Given the description of an element on the screen output the (x, y) to click on. 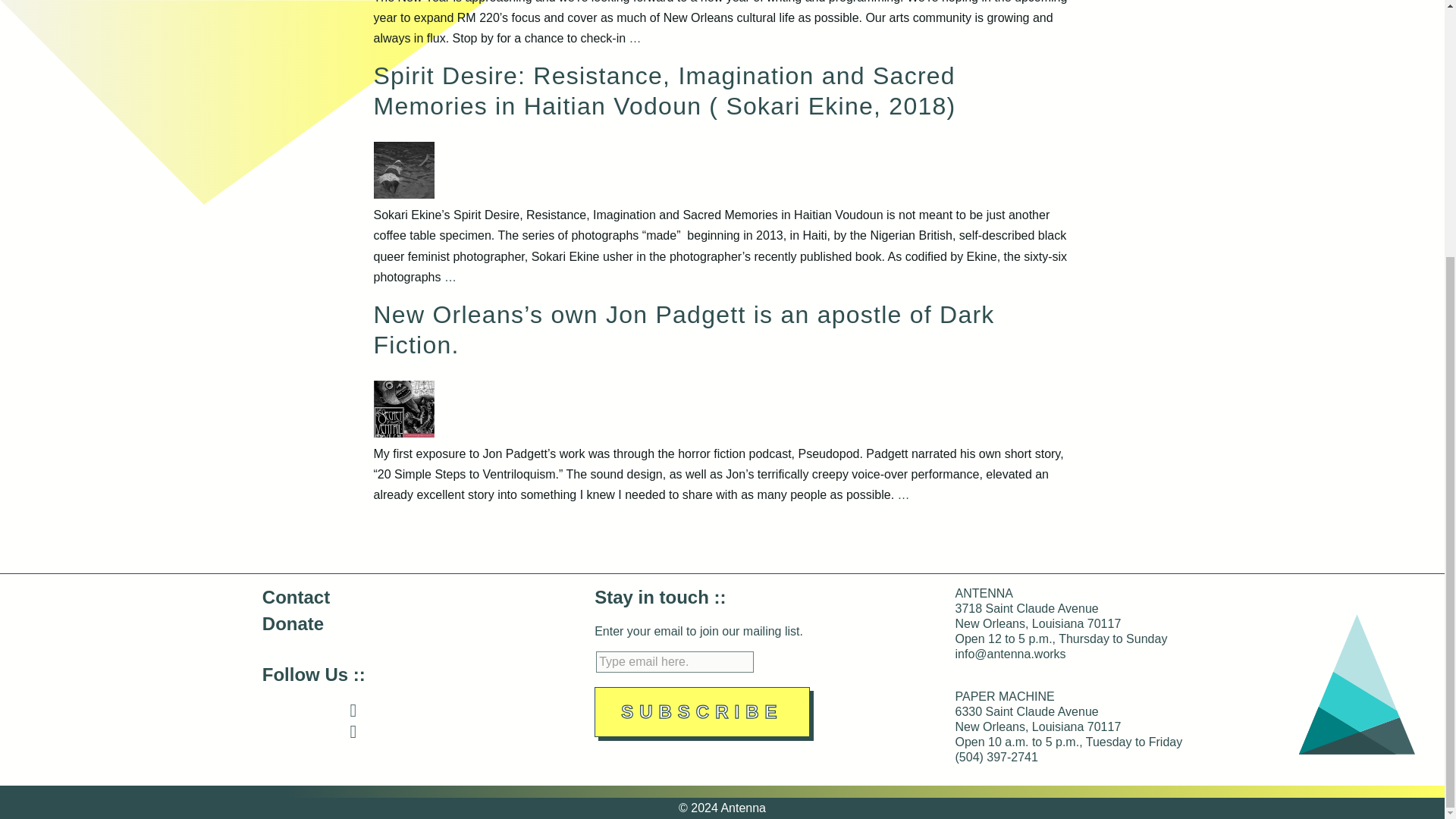
Subscribe (701, 712)
Subscribe (701, 712)
Donate (292, 623)
Contact (296, 597)
